Given the description of an element on the screen output the (x, y) to click on. 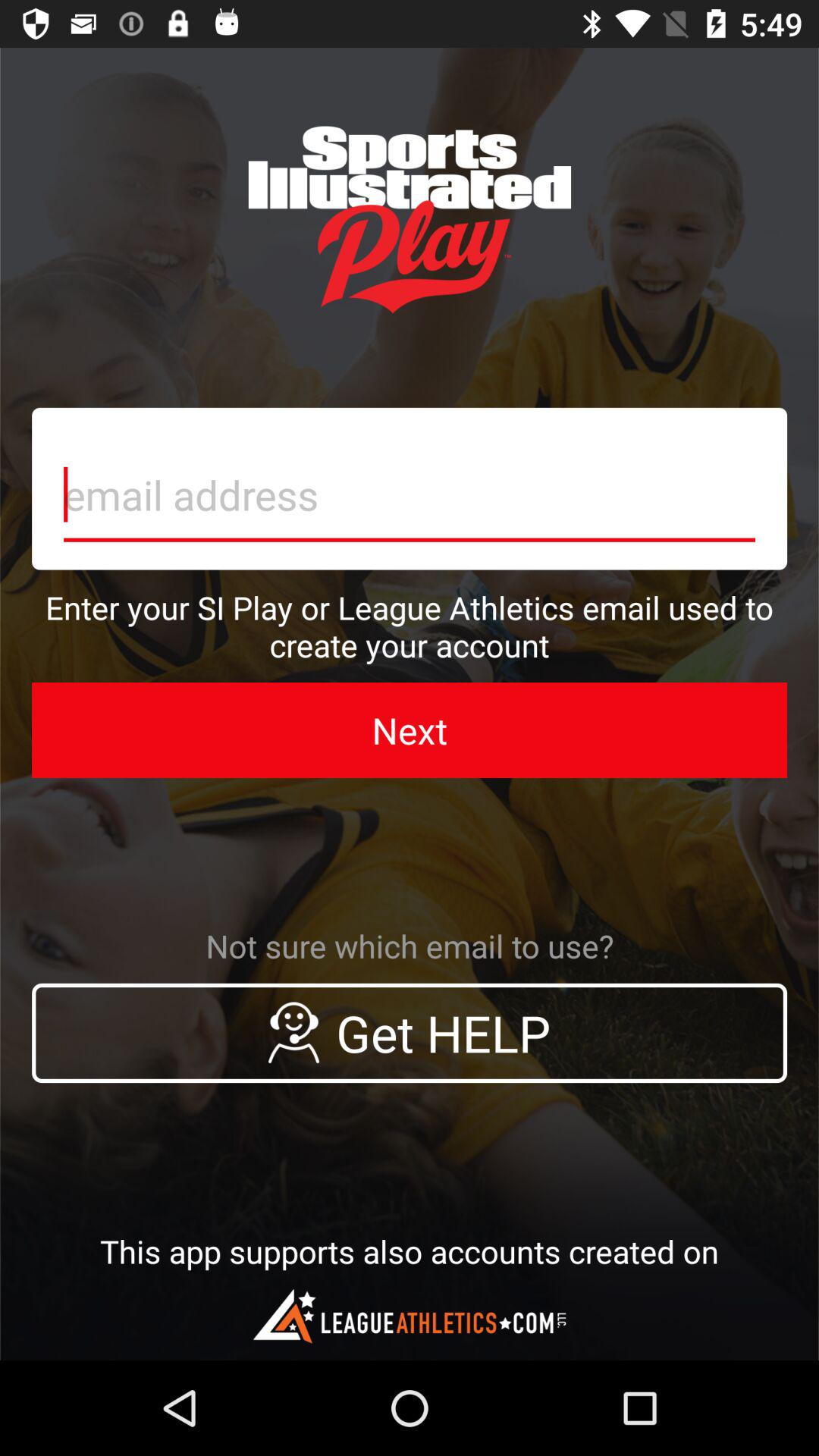
enter email address (409, 488)
